Given the description of an element on the screen output the (x, y) to click on. 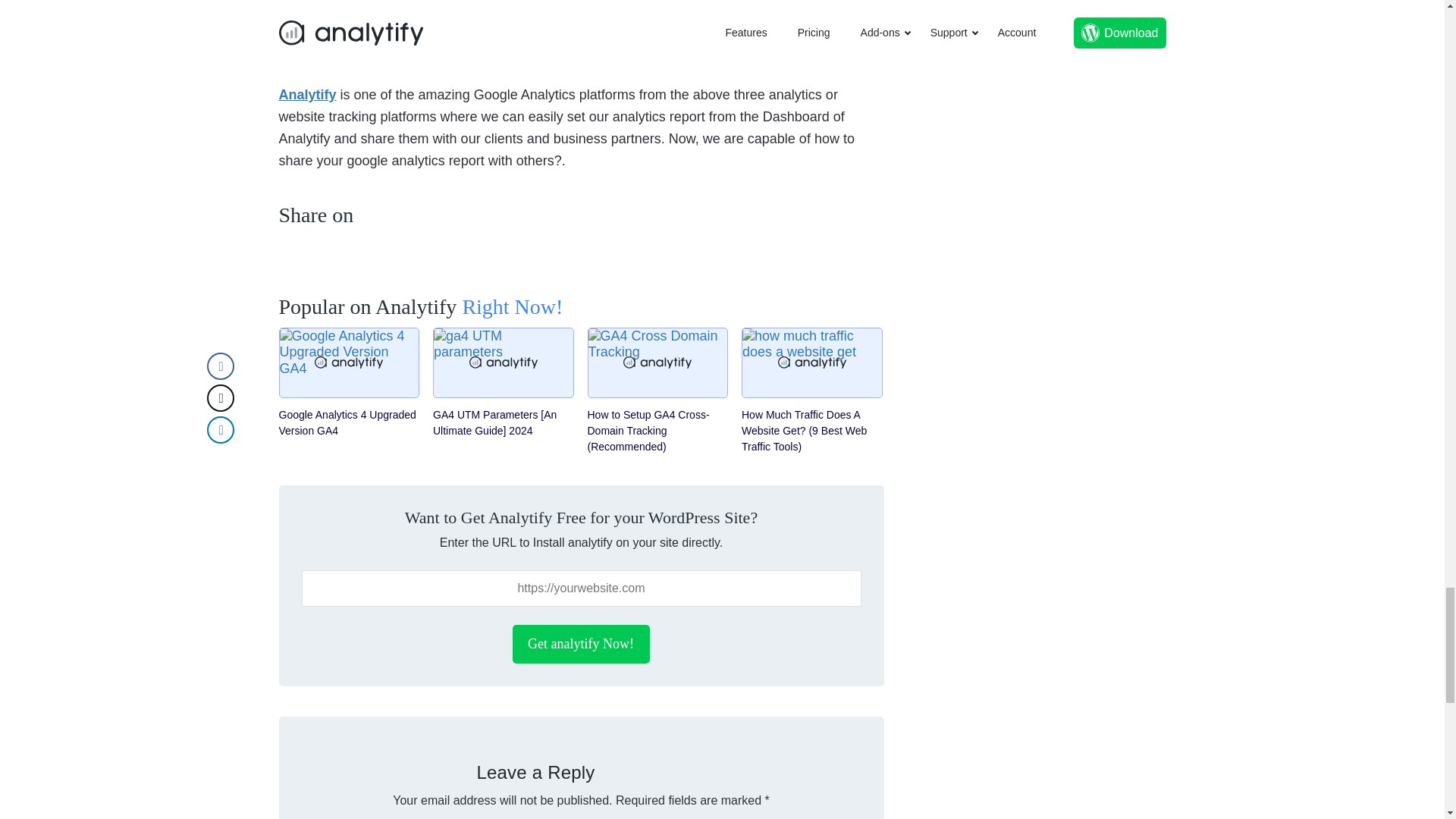
Analytify (307, 94)
